Given the description of an element on the screen output the (x, y) to click on. 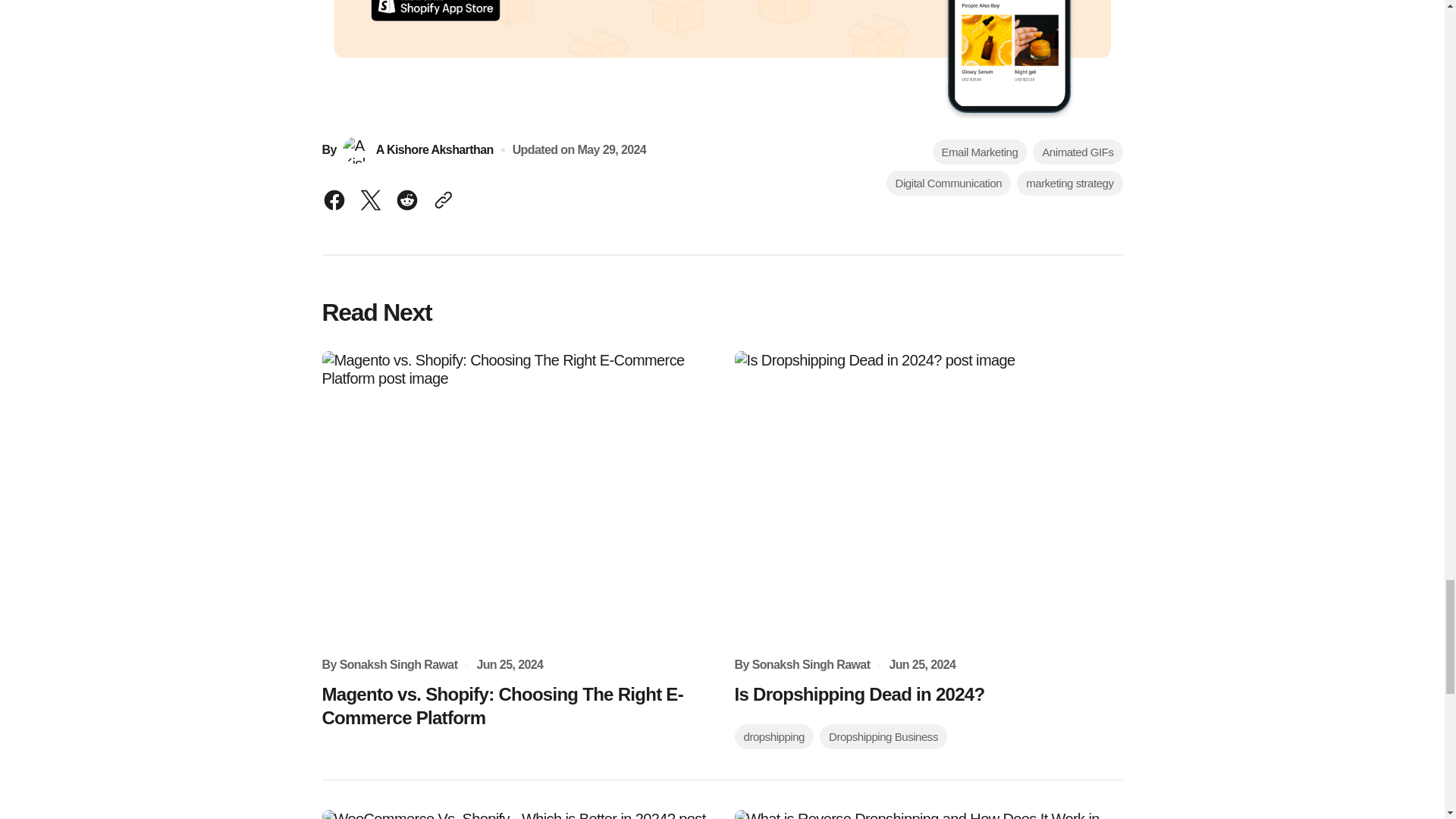
marketing strategy (1069, 182)
Digital Communication (948, 182)
Is Dropshipping Dead in 2024? (858, 693)
Animated GIFs (1077, 151)
Dropshipping Business (883, 736)
Email Marketing (980, 151)
A Kishore Aksharthan (417, 149)
dropshipping (773, 736)
Magento vs. Shopify: Choosing The Right E-Commerce Platform (515, 705)
Sonaksh Singh Rawat (398, 664)
